Given the description of an element on the screen output the (x, y) to click on. 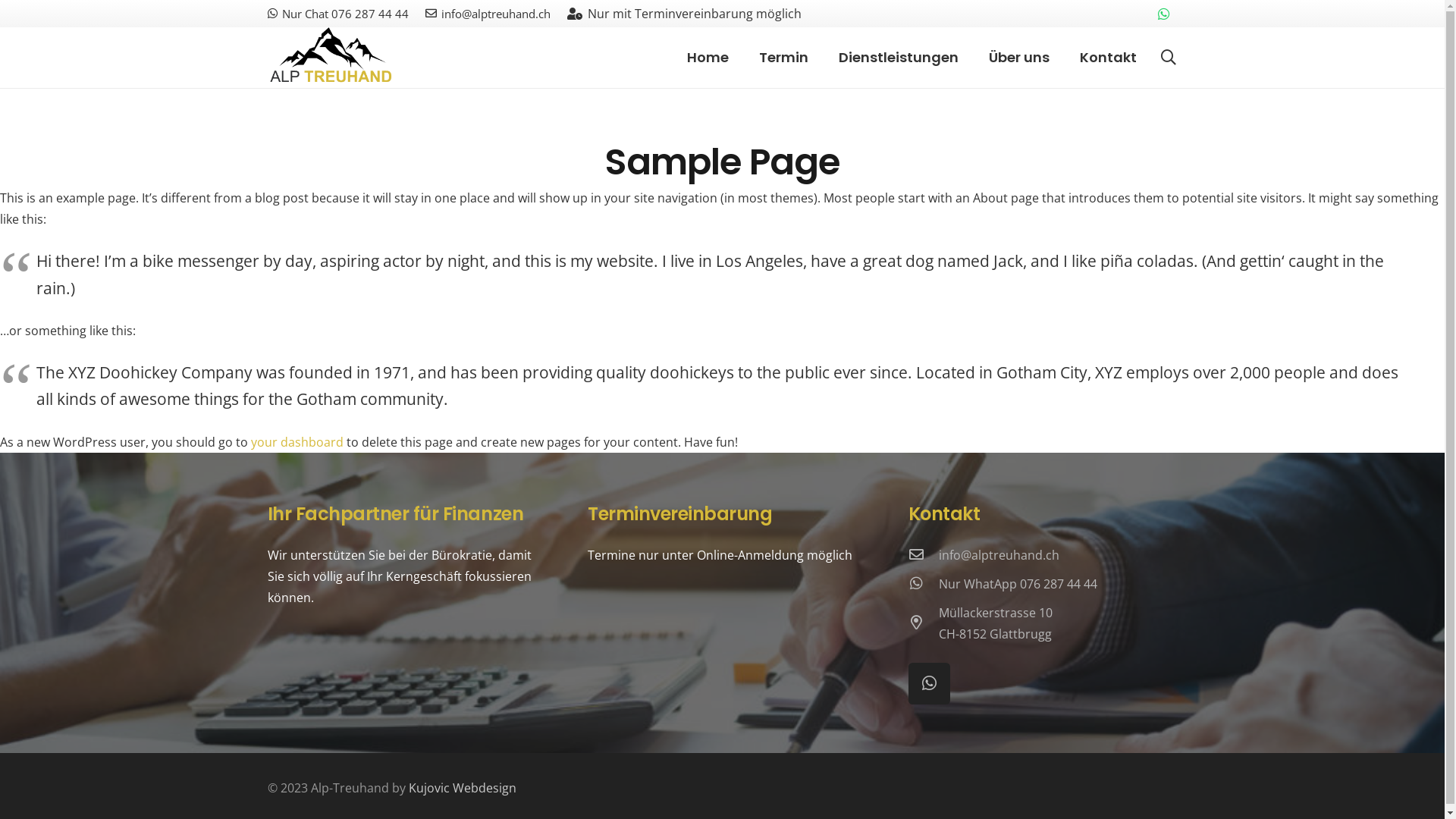
Kujovic Webdesign Element type: text (461, 787)
Kontakt Element type: text (1107, 57)
Nur Chat 076 287 44 44 Element type: text (336, 13)
WhatsApp Element type: hover (929, 683)
Home Element type: text (707, 57)
info@alptreuhand.ch Element type: text (487, 13)
your dashboard Element type: text (297, 441)
WhatsApp Element type: hover (1163, 13)
Dienstleistungen Element type: text (898, 57)
Online-Anmeldung Element type: text (749, 554)
info@alptreuhand.ch Element type: text (998, 554)
Nur WhatApp 076 287 44 44 Element type: text (1017, 583)
Termin Element type: text (783, 57)
